Given the description of an element on the screen output the (x, y) to click on. 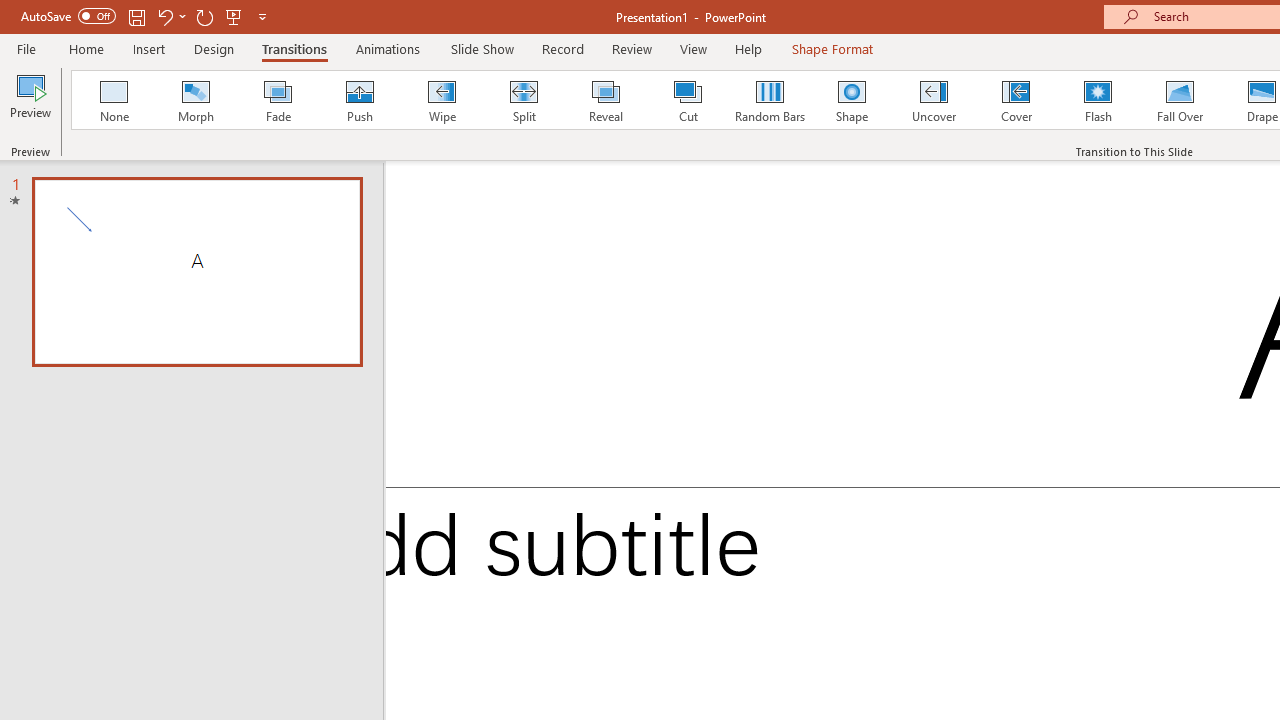
Cover (1016, 100)
None (113, 100)
Shape (852, 100)
Wipe (441, 100)
Flash (1098, 100)
